Given the description of an element on the screen output the (x, y) to click on. 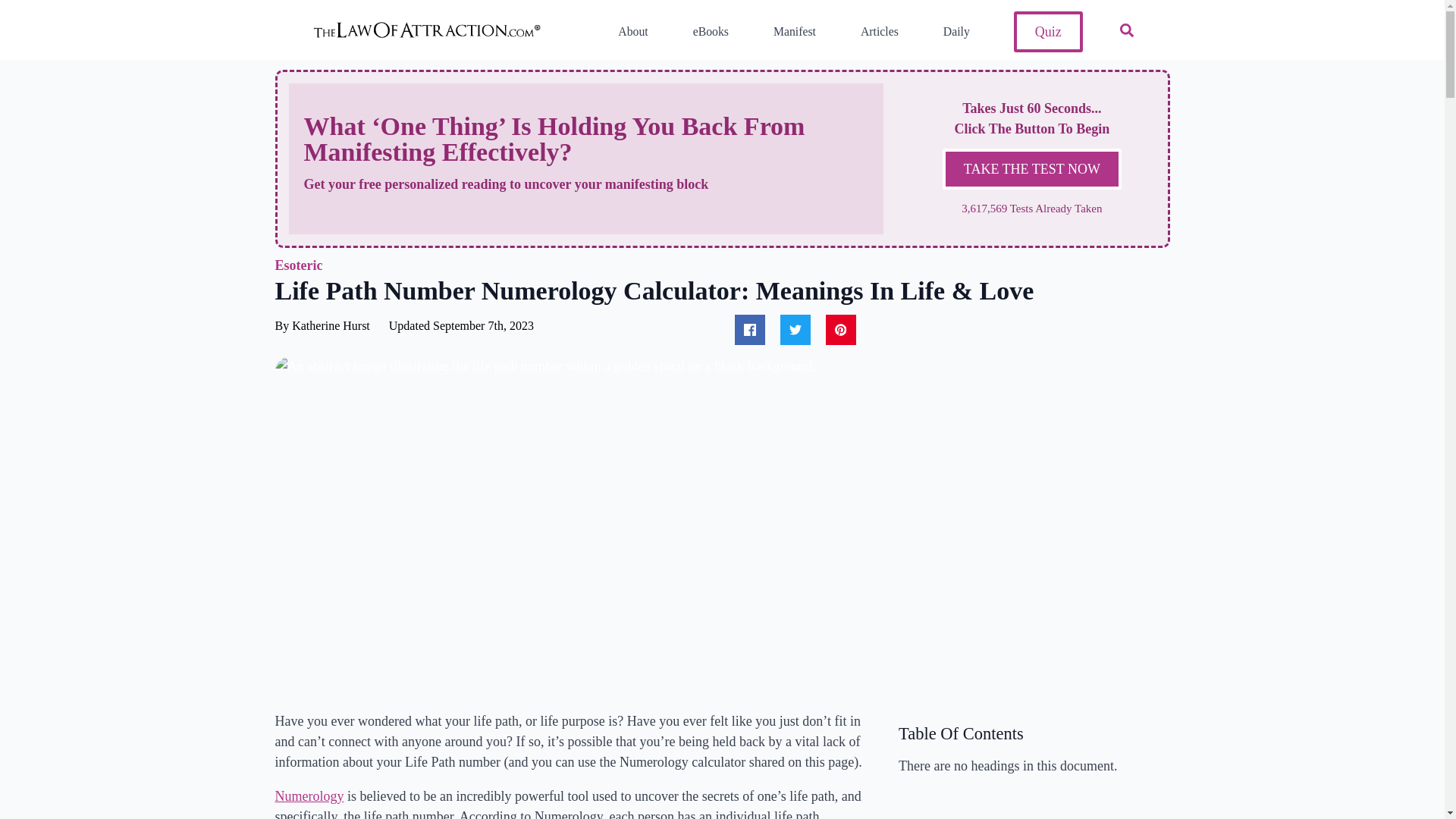
Daily (950, 31)
Manifest (788, 31)
About (626, 31)
Esoteric (298, 264)
Articles (873, 31)
TAKE THE TEST NOW (1031, 168)
Quiz (1048, 31)
eBooks (705, 31)
